Given the description of an element on the screen output the (x, y) to click on. 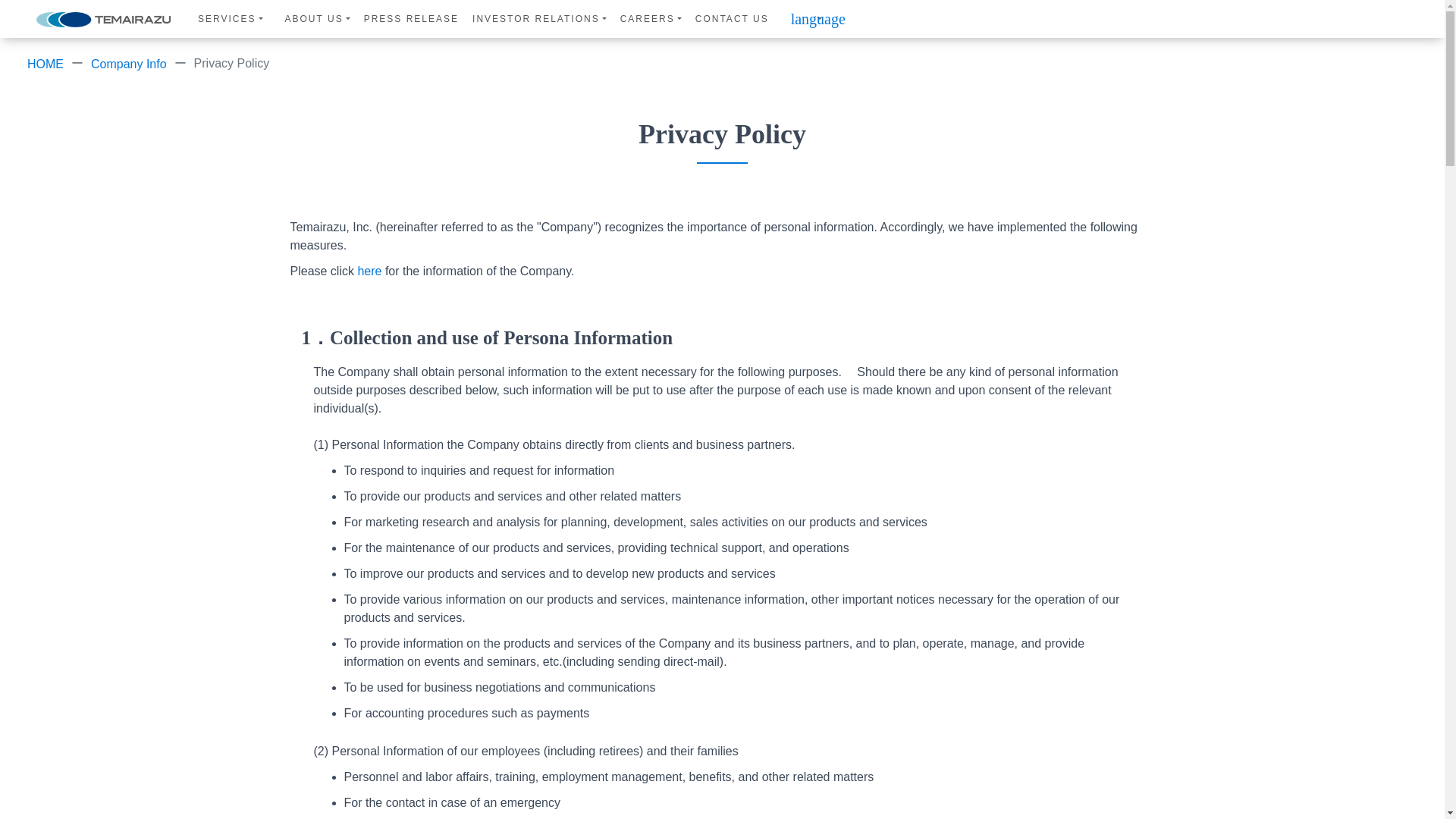
here (368, 270)
Company Info (128, 63)
CONTACT US (732, 18)
PRESS RELEASE (411, 18)
HOME (45, 63)
